Given the description of an element on the screen output the (x, y) to click on. 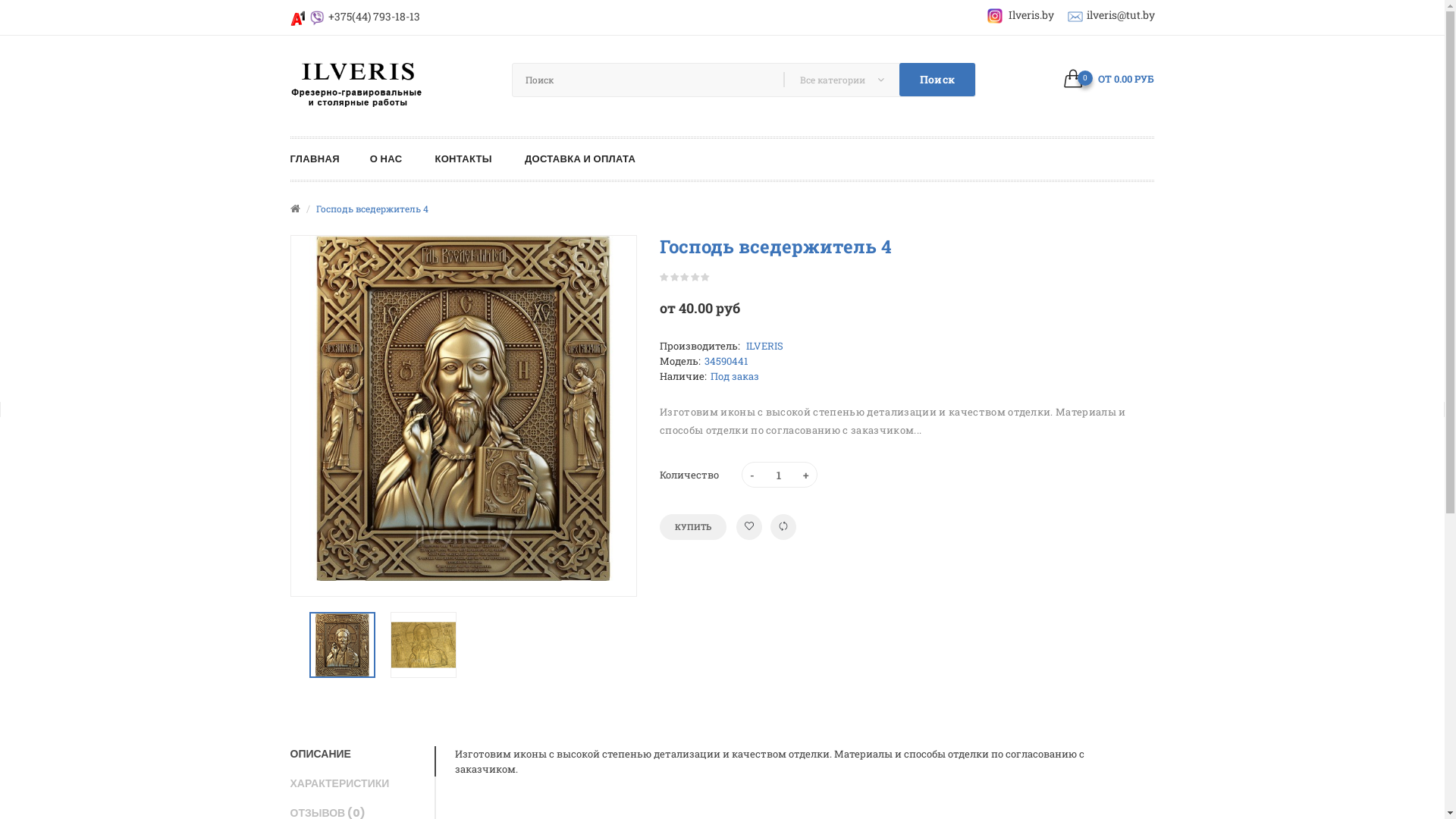
Ilveris.by Element type: text (1020, 14)
ilveris@tut.by Element type: text (1119, 14)
ILVERIS Element type: text (762, 345)
+375(44) 793-18-13 Element type: text (373, 16)
ilveris.by Element type: hover (355, 83)
